Given the description of an element on the screen output the (x, y) to click on. 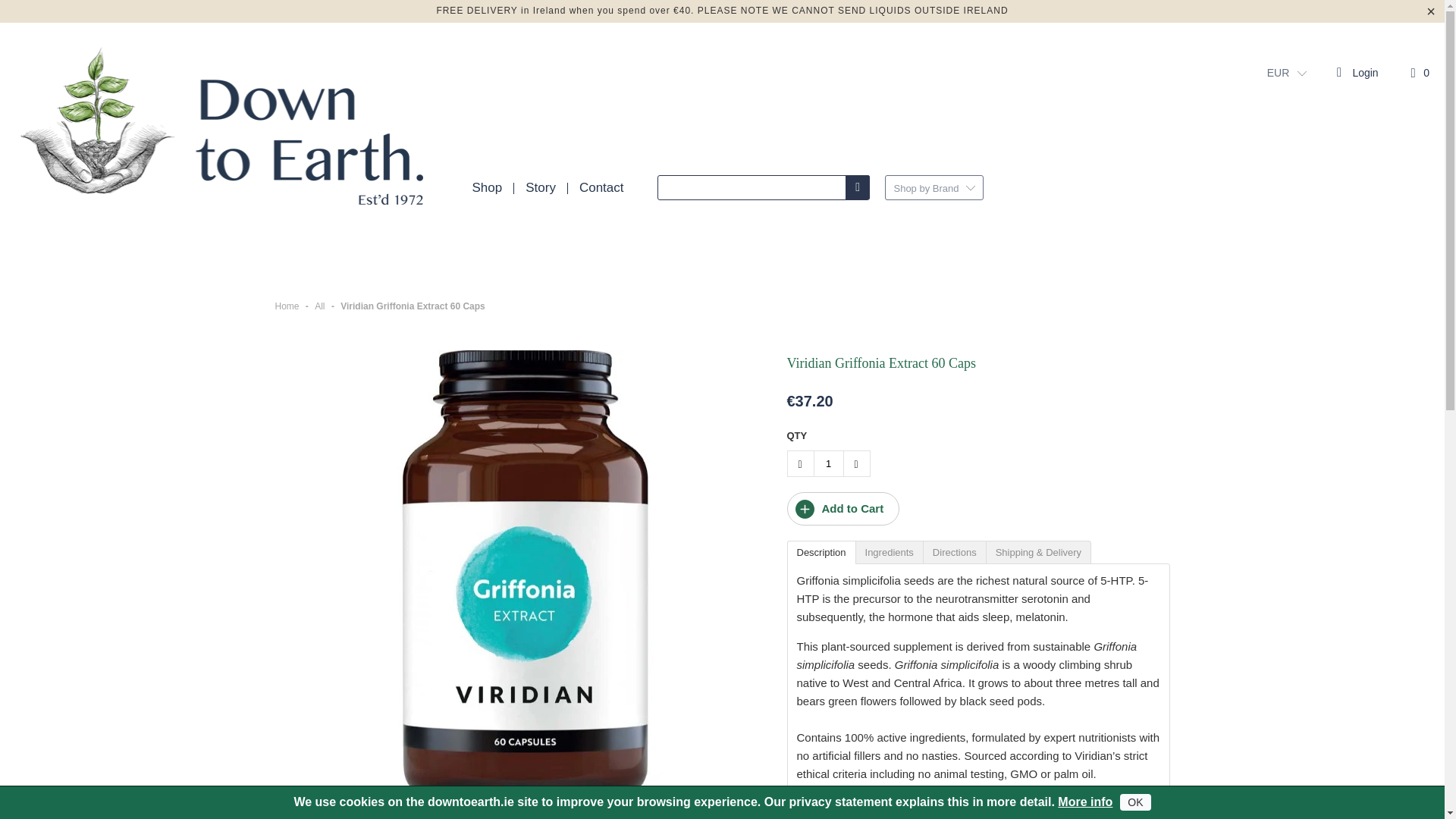
Down to Earth Healthfood Store (223, 131)
All (319, 306)
1 (827, 463)
Down to Earth Healthfood Store (286, 306)
My Account  (1355, 72)
